Given the description of an element on the screen output the (x, y) to click on. 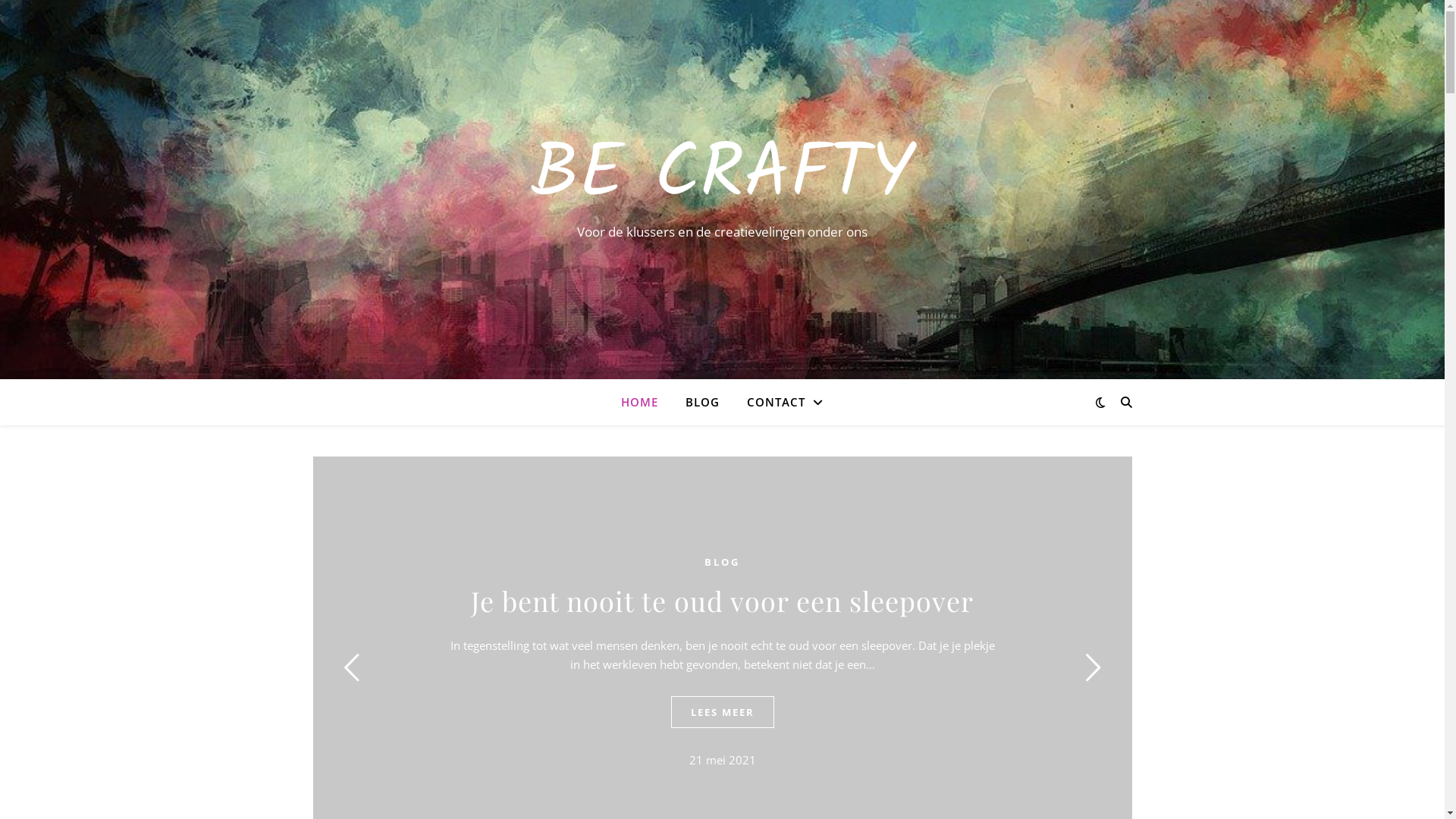
LEES MEER Element type: text (721, 712)
BLOG Element type: text (702, 401)
BLOG Element type: text (722, 561)
HOME Element type: text (645, 401)
Je bent nooit te oud voor een sleepover Element type: text (721, 600)
CONTACT Element type: text (778, 402)
BE CRAFTY Element type: text (722, 175)
